Given the description of an element on the screen output the (x, y) to click on. 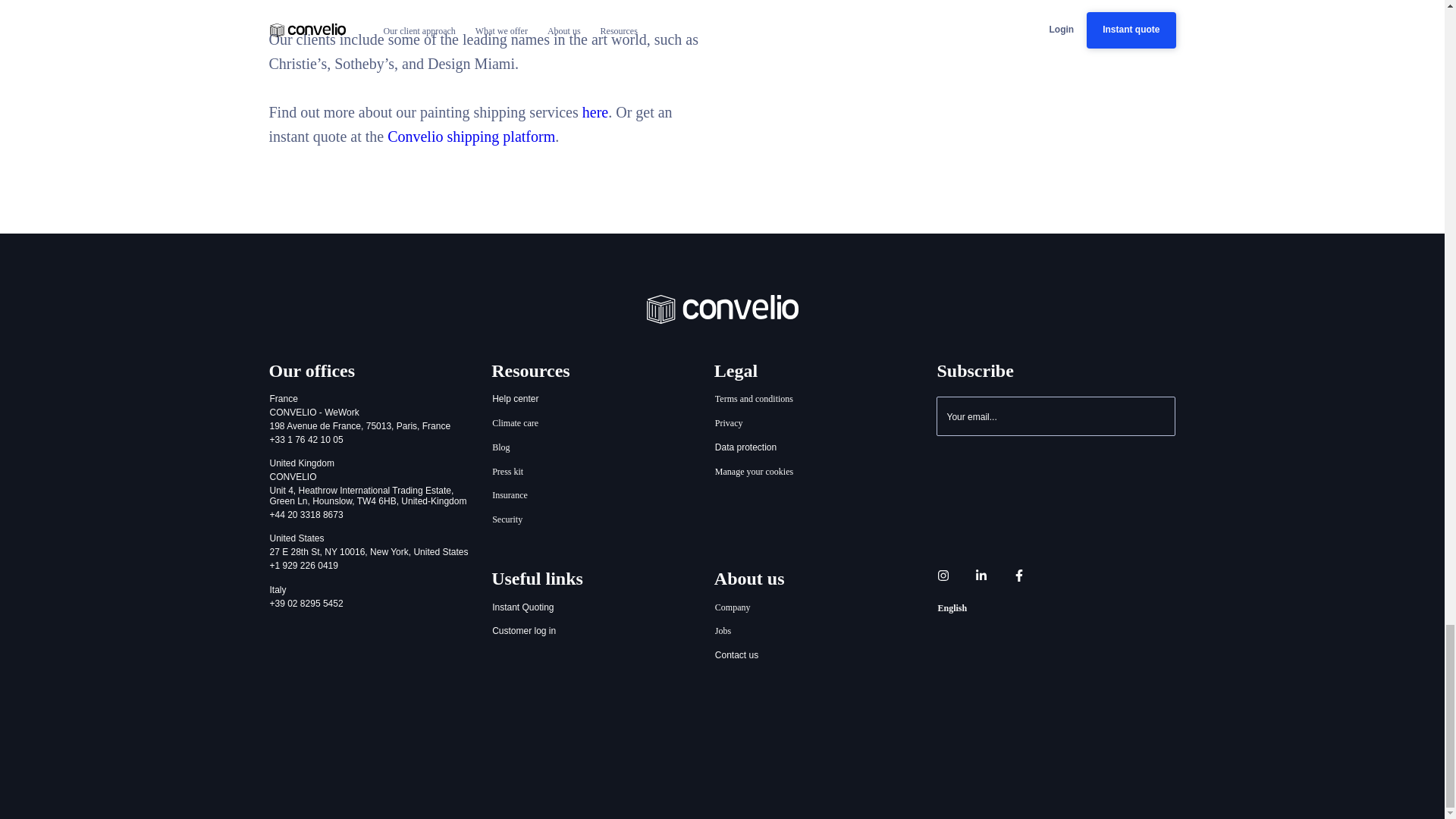
Jobs (723, 631)
Manage your cookies (753, 472)
Press kit (508, 472)
Security (507, 520)
Terms and conditions (753, 399)
Blog (501, 448)
here (595, 112)
Insurance (510, 495)
Instant Quoting (523, 607)
Company (732, 607)
Contact us (736, 655)
Customer log in (524, 631)
Help center (515, 399)
English (952, 608)
Convelio shipping platform (470, 135)
